Given the description of an element on the screen output the (x, y) to click on. 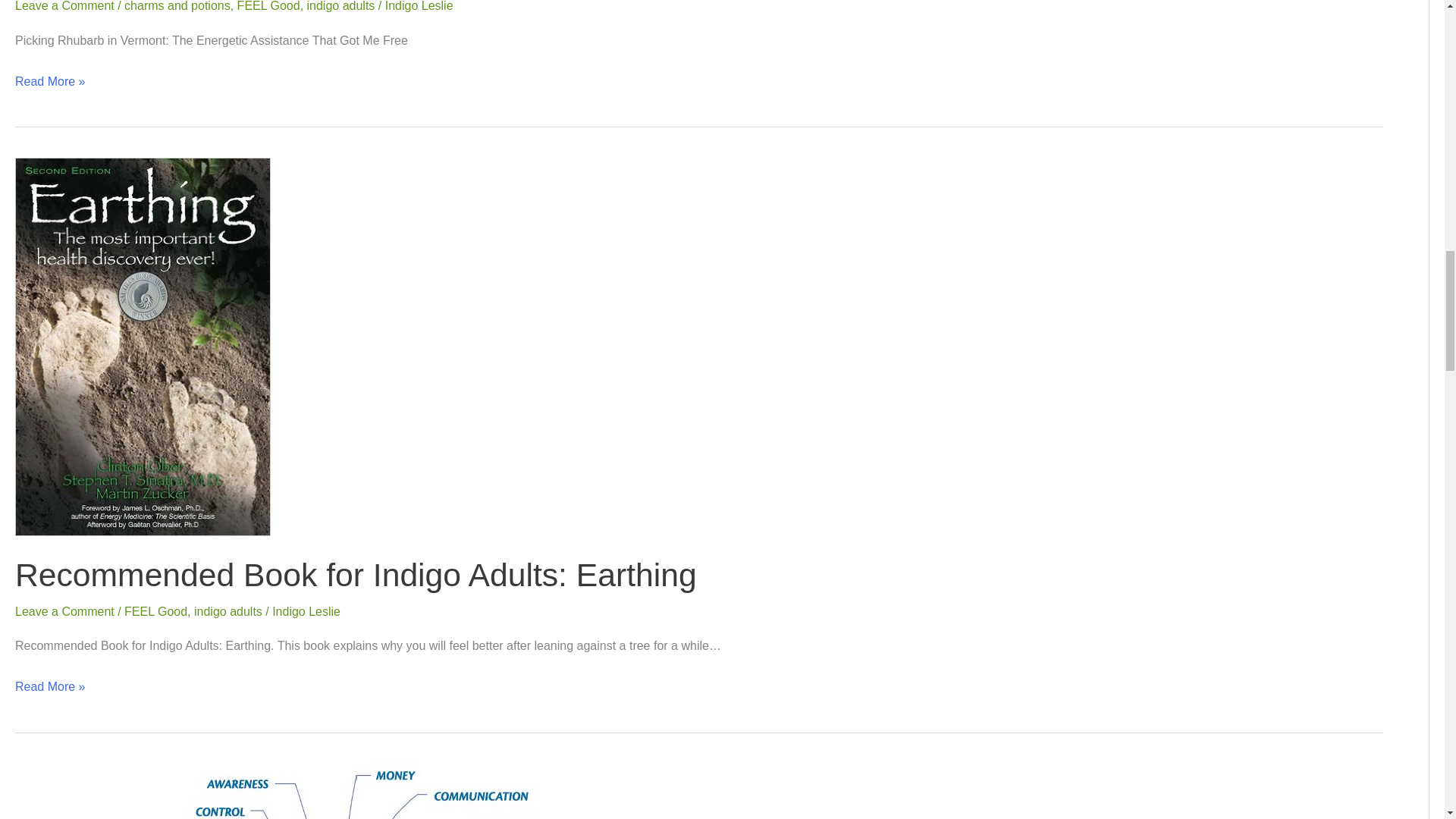
View all posts by Indigo Leslie (306, 611)
indigo adults (227, 611)
Recommended Book for Indigo Adults: Earthing (355, 574)
charms and potions (176, 6)
View all posts by Indigo Leslie (418, 6)
Indigo Leslie (306, 611)
indigo adults (341, 6)
Indigo Leslie (418, 6)
Leave a Comment (64, 6)
FEEL Good (155, 611)
